Given the description of an element on the screen output the (x, y) to click on. 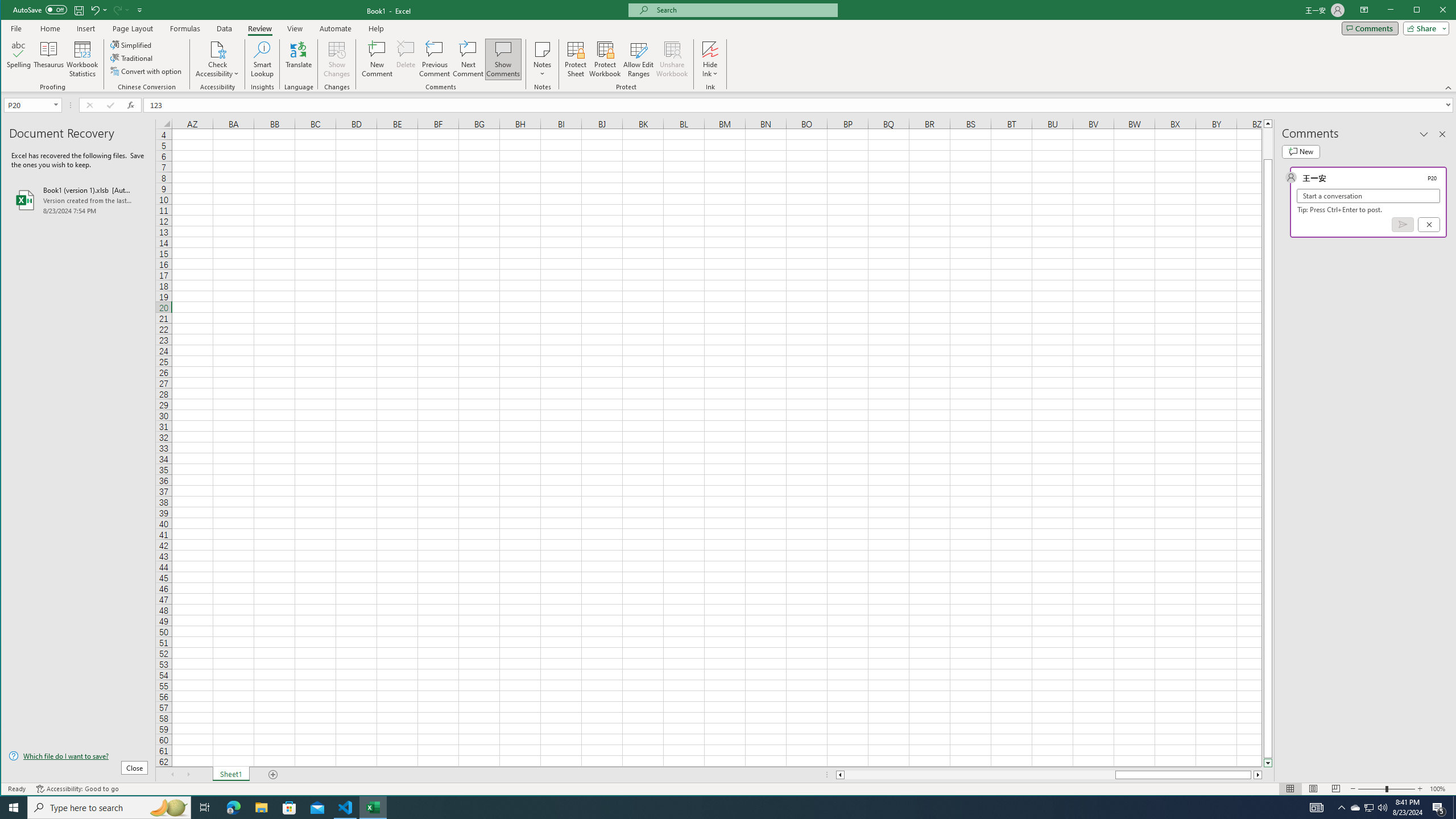
Show desktop (1355, 807)
Task View (1454, 807)
Action Center, 5 new notifications (204, 807)
Show Comments (1439, 807)
Page left (502, 59)
Class: MsoCommandBar (979, 774)
Post comment (Ctrl + Enter) (728, 45)
Simplified (1402, 224)
